Given the description of an element on the screen output the (x, y) to click on. 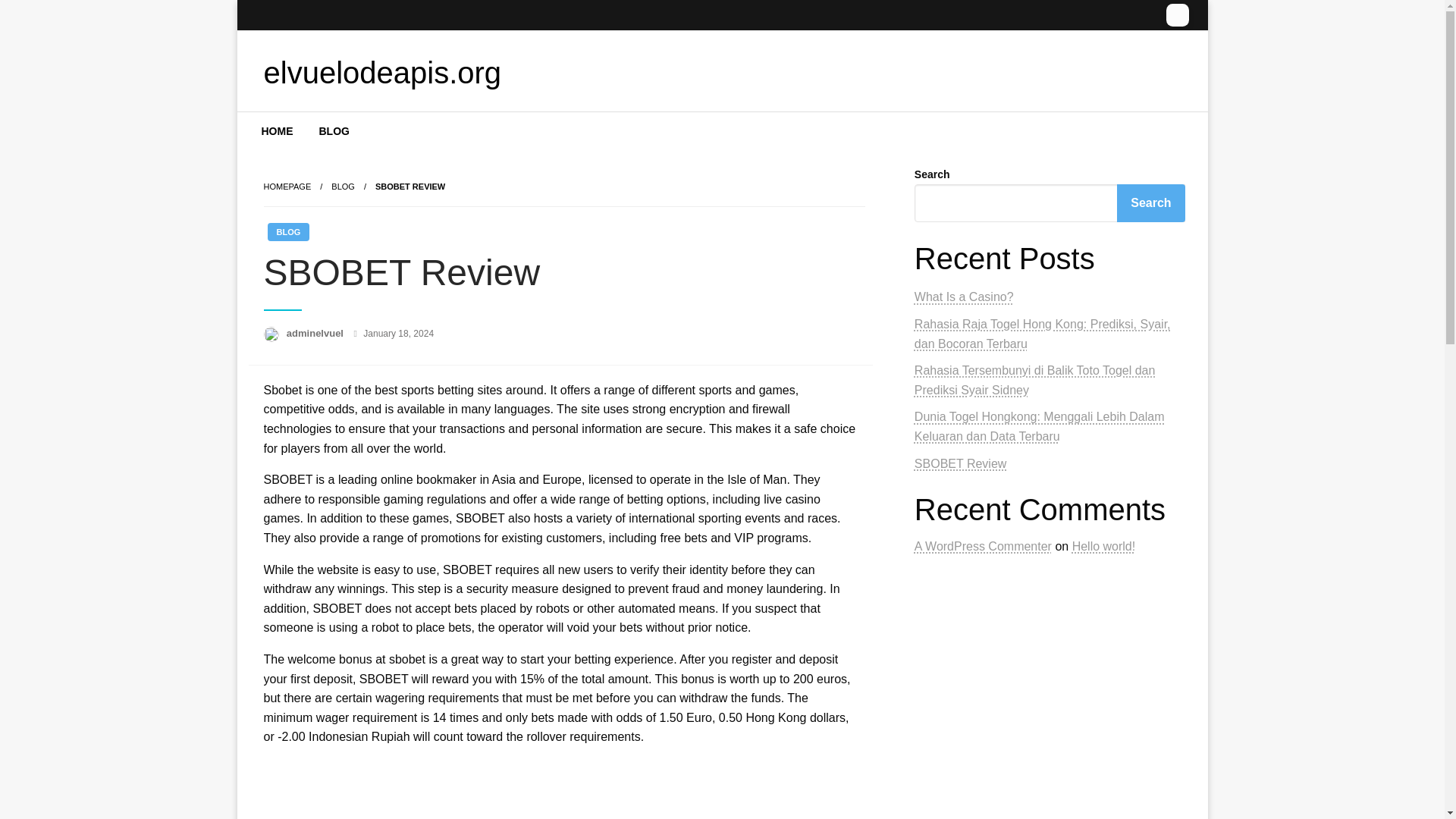
January 18, 2024 (397, 333)
BLOG (333, 130)
Search (1150, 202)
Homepage (287, 185)
Hello world! (1103, 545)
adminelvuel (316, 333)
SBOBET Review (410, 185)
Blog (343, 185)
BLOG (287, 231)
A WordPress Commenter (982, 545)
adminelvuel (316, 333)
What Is a Casino? (963, 296)
HOMEPAGE (287, 185)
SBOBET Review (960, 463)
